Given the description of an element on the screen output the (x, y) to click on. 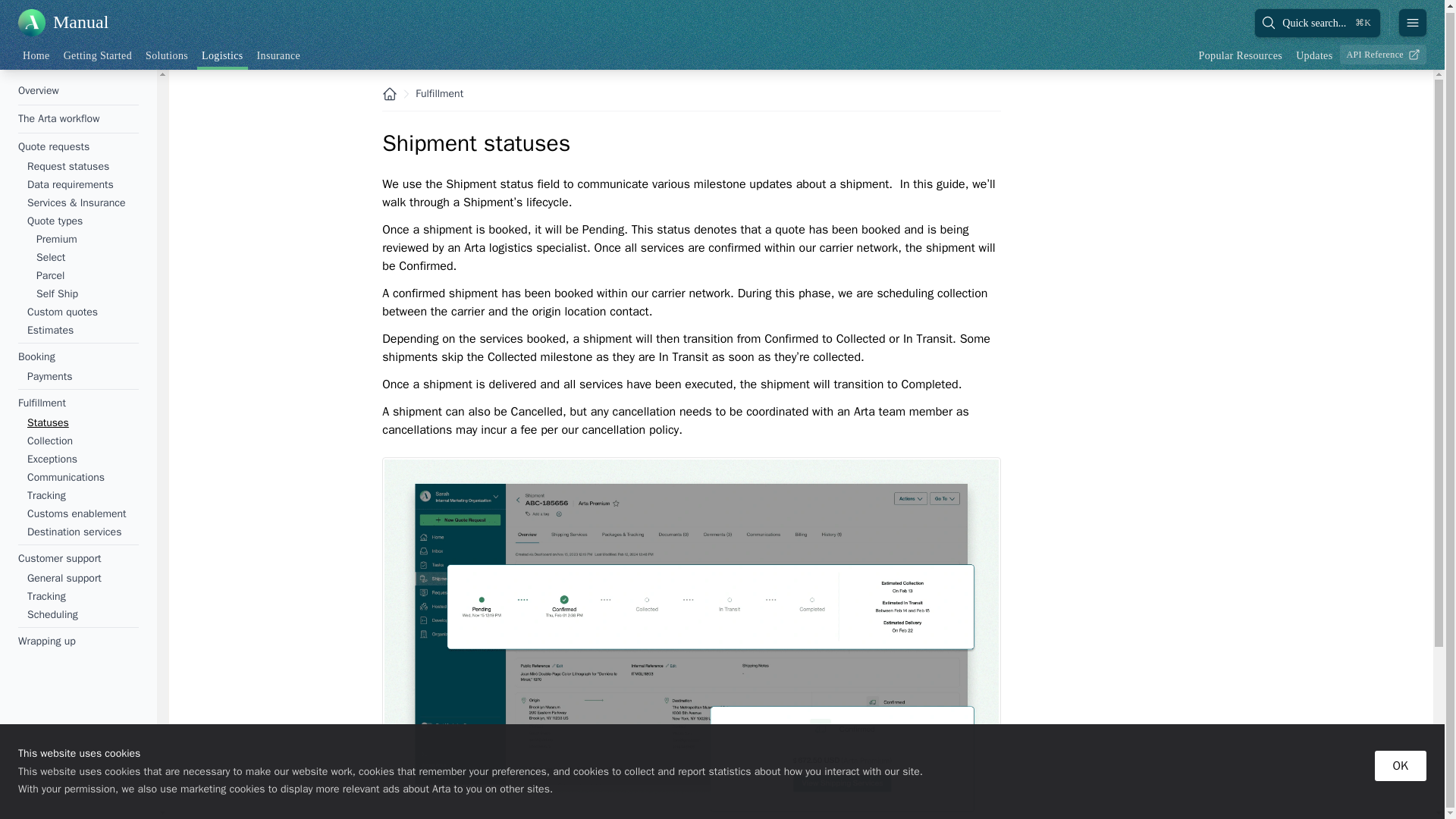
Home (36, 54)
Popular Resources (1240, 54)
OK (1400, 764)
Insurance (278, 54)
Updates (1313, 54)
Solutions (166, 54)
Logistics (221, 55)
API Reference (1383, 52)
Manual (62, 21)
Getting Started (97, 54)
